Given the description of an element on the screen output the (x, y) to click on. 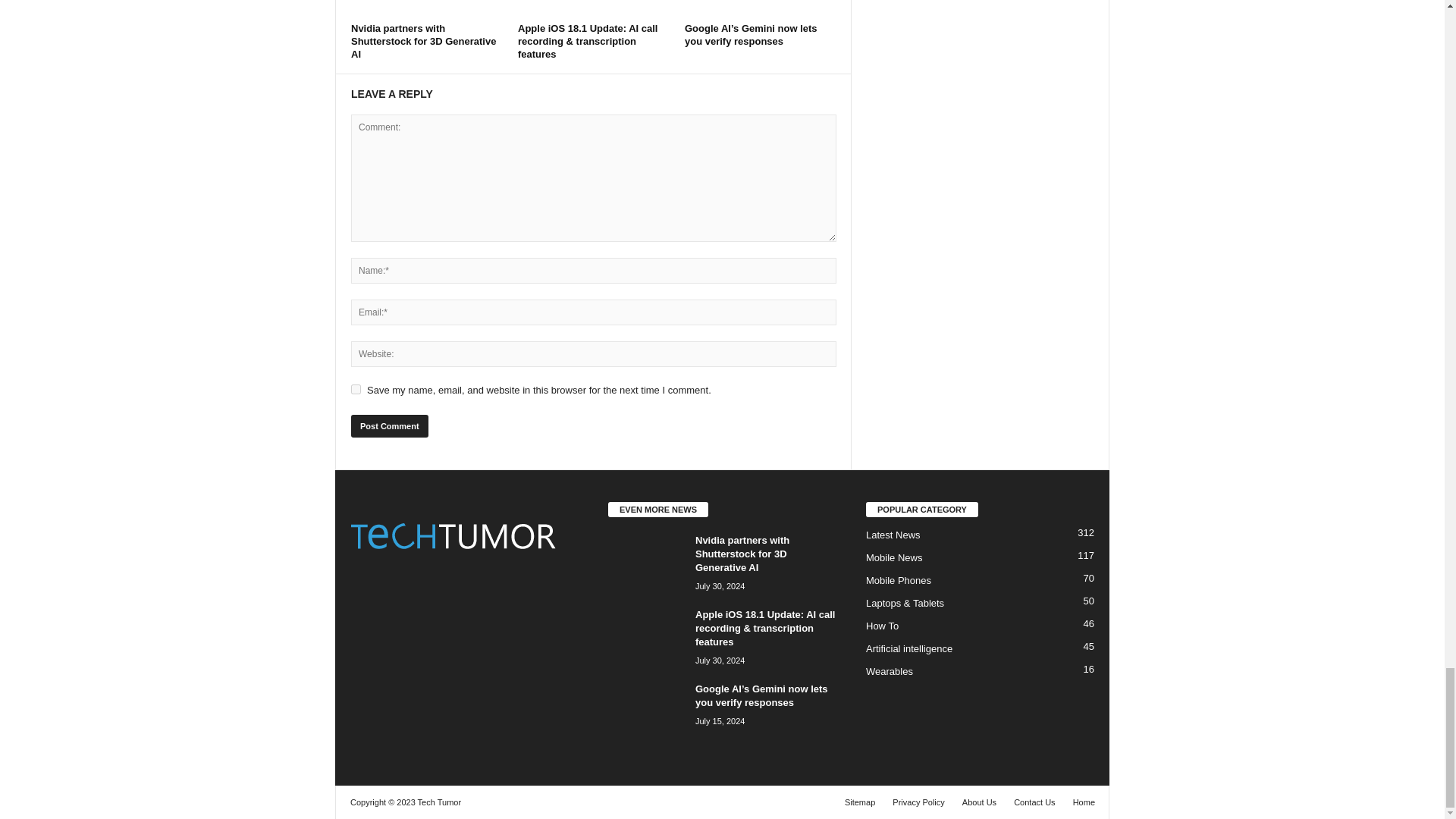
Post Comment (389, 425)
yes (355, 388)
